Given the description of an element on the screen output the (x, y) to click on. 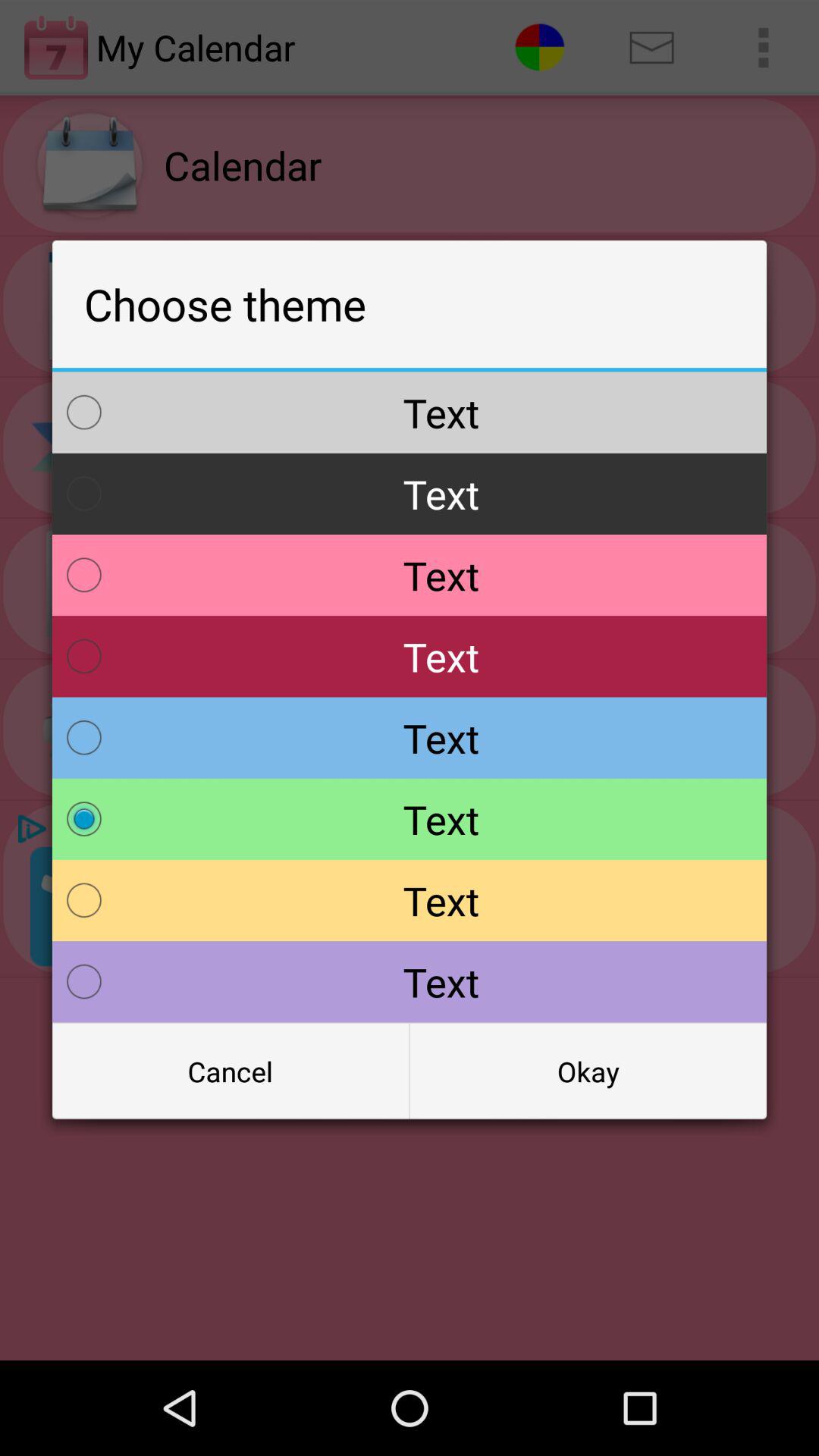
click the icon next to okay item (230, 1071)
